Given the description of an element on the screen output the (x, y) to click on. 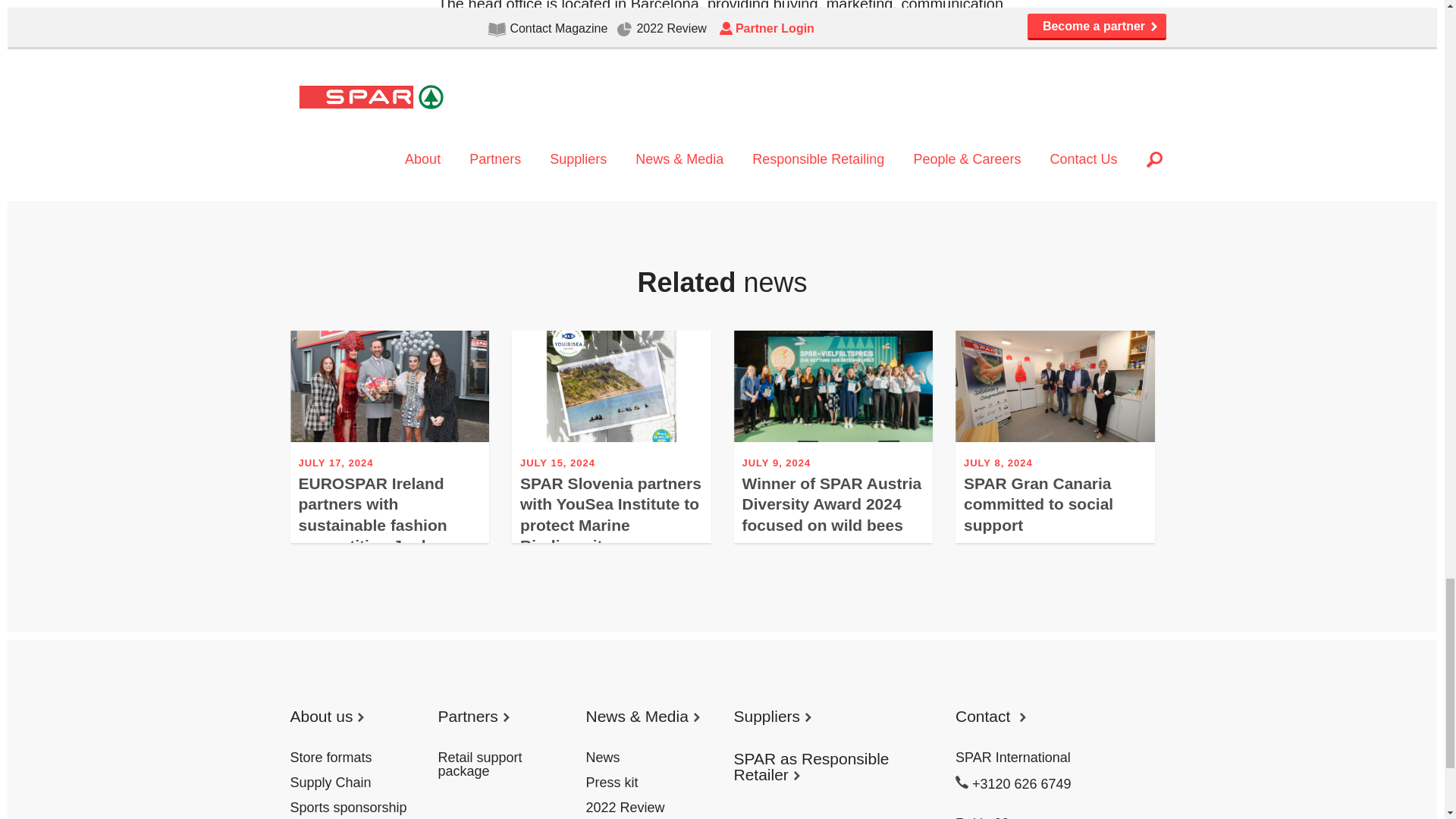
Share on LinkedIn (498, 118)
